Given the description of an element on the screen output the (x, y) to click on. 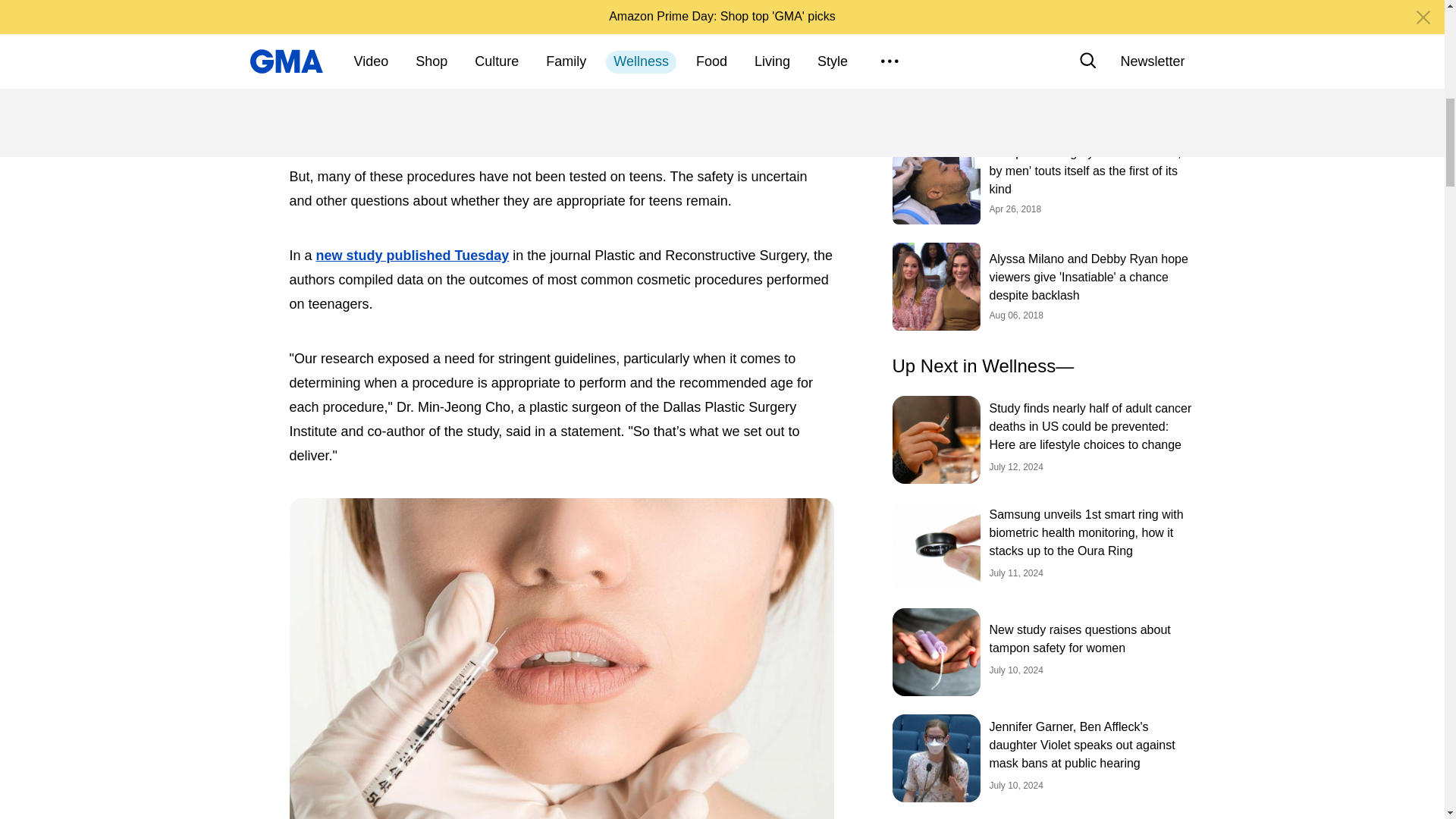
new study published Tuesday (412, 255)
Dr. Ryan Guinness (351, 1)
